Given the description of an element on the screen output the (x, y) to click on. 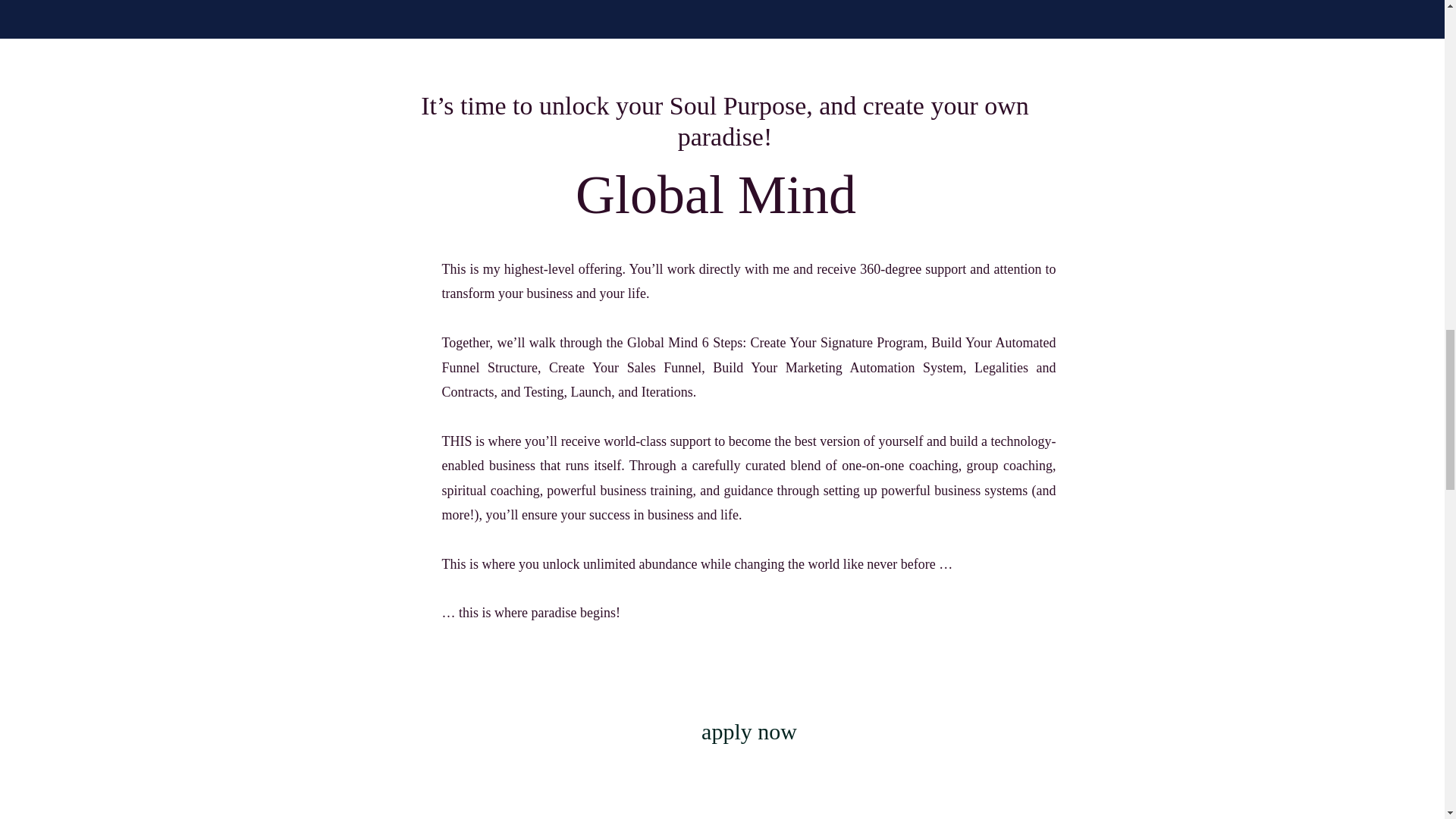
apply now (748, 734)
